Given the description of an element on the screen output the (x, y) to click on. 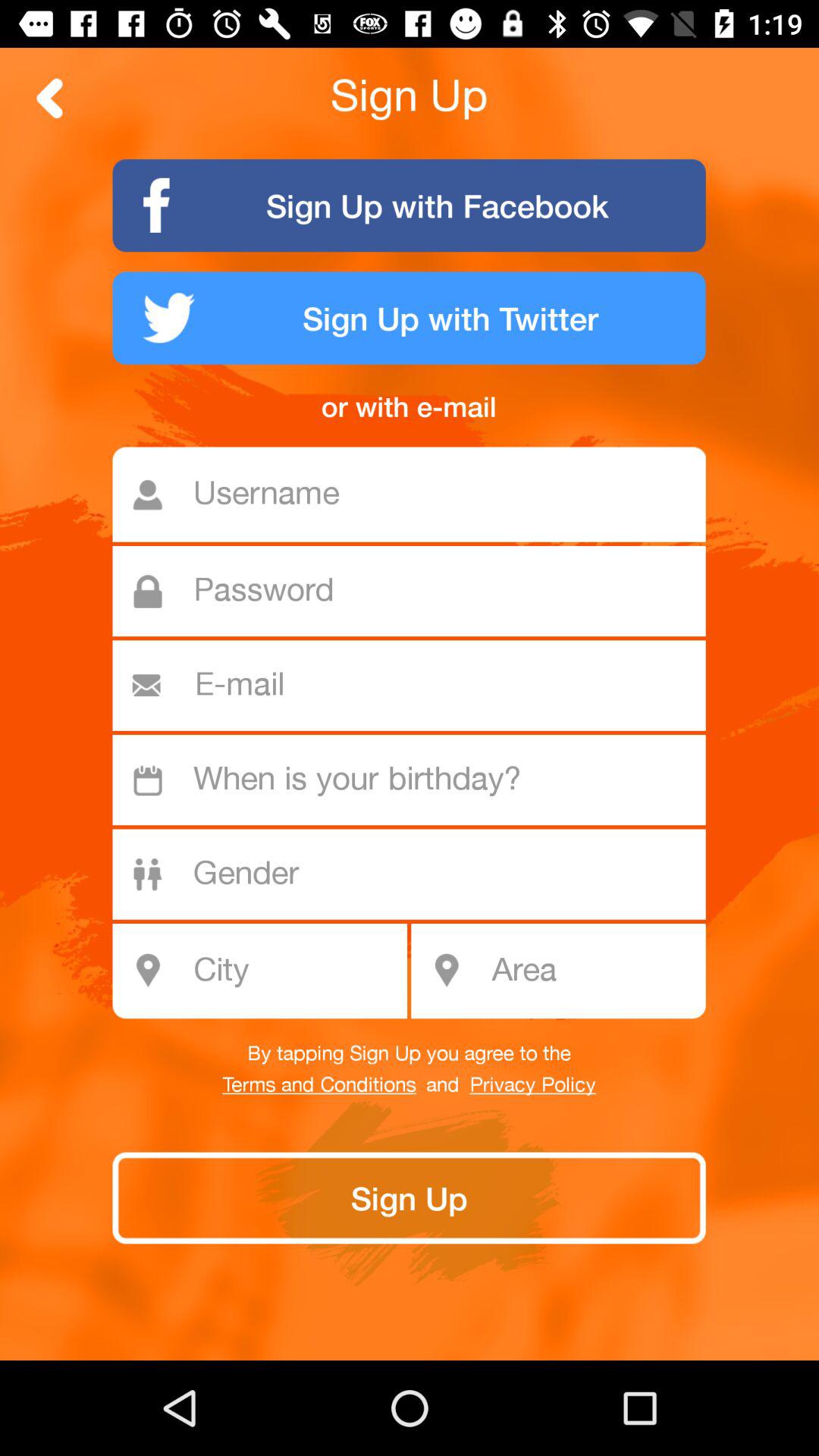
click the item next to and item (532, 1085)
